Given the description of an element on the screen output the (x, y) to click on. 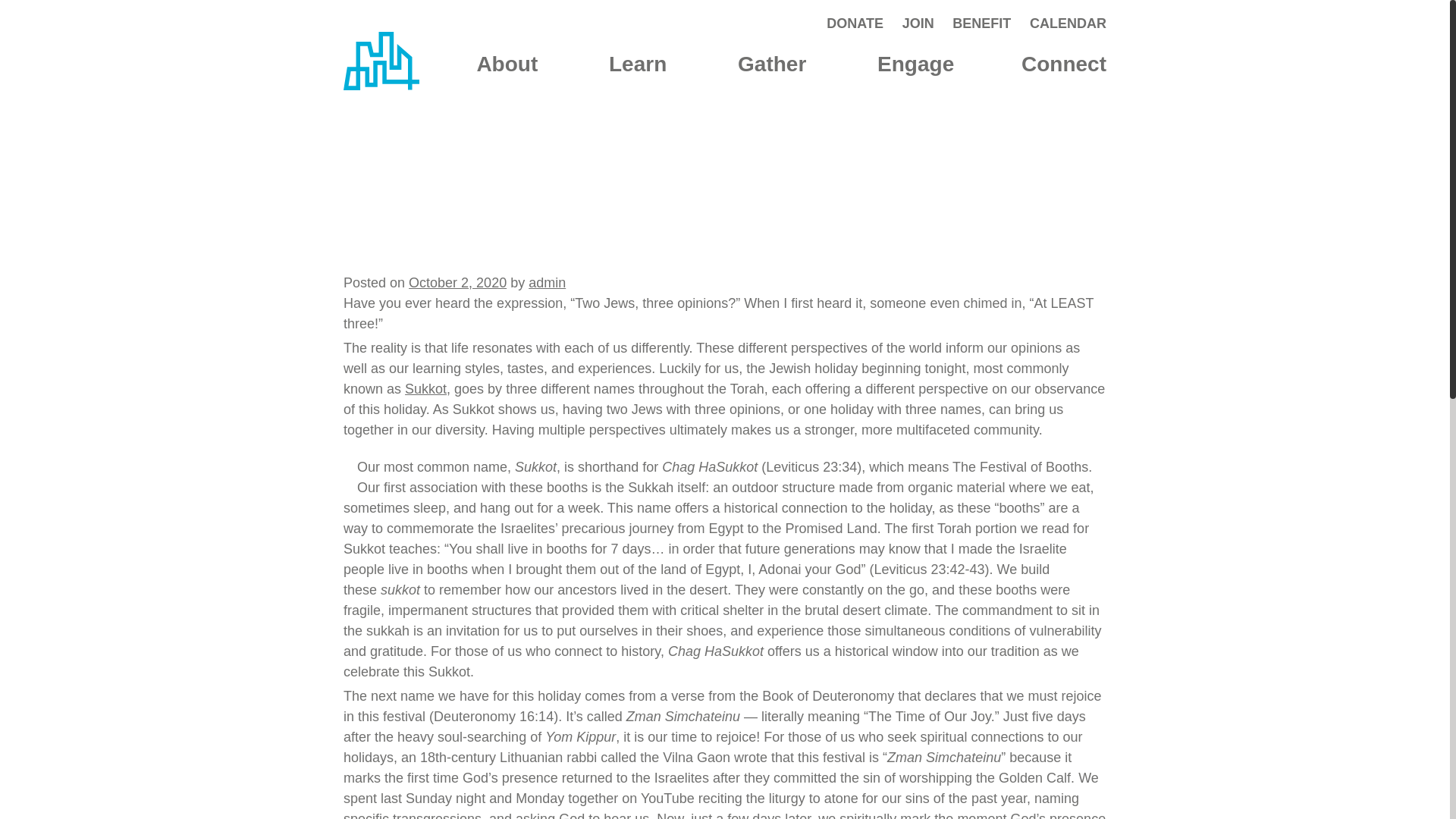
JOIN (918, 23)
DONATE (855, 23)
About (506, 64)
BENEFIT (981, 23)
Learn (637, 64)
CALENDAR (1067, 23)
